Given the description of an element on the screen output the (x, y) to click on. 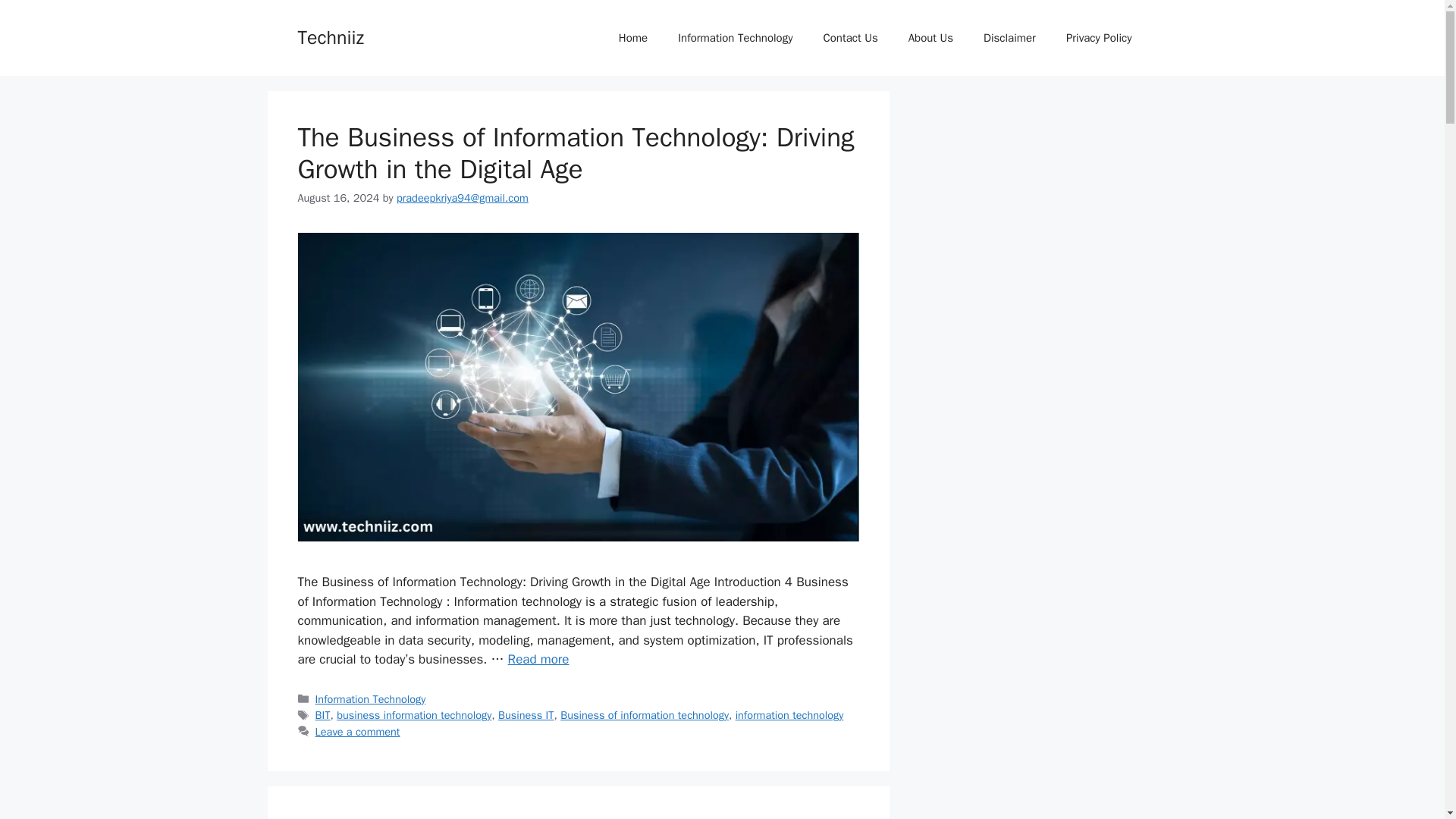
About Us (930, 37)
BIT (322, 714)
Leave a comment (357, 731)
Privacy Policy (1099, 37)
Information Technology (370, 698)
Information Technology (735, 37)
Business IT (525, 714)
Business of information technology (644, 714)
Home (633, 37)
